Given the description of an element on the screen output the (x, y) to click on. 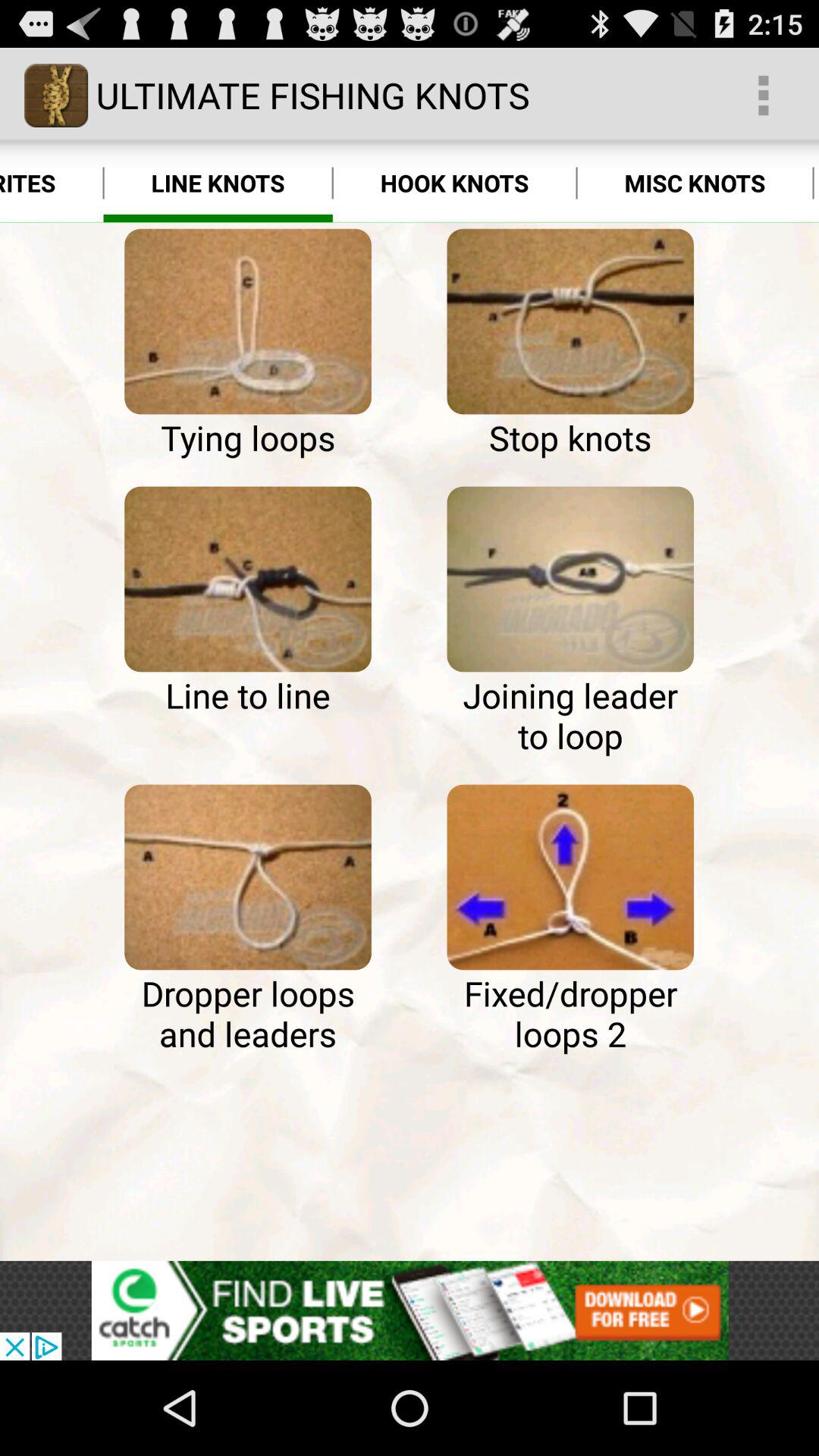
expand this picture (570, 578)
